Given the description of an element on the screen output the (x, y) to click on. 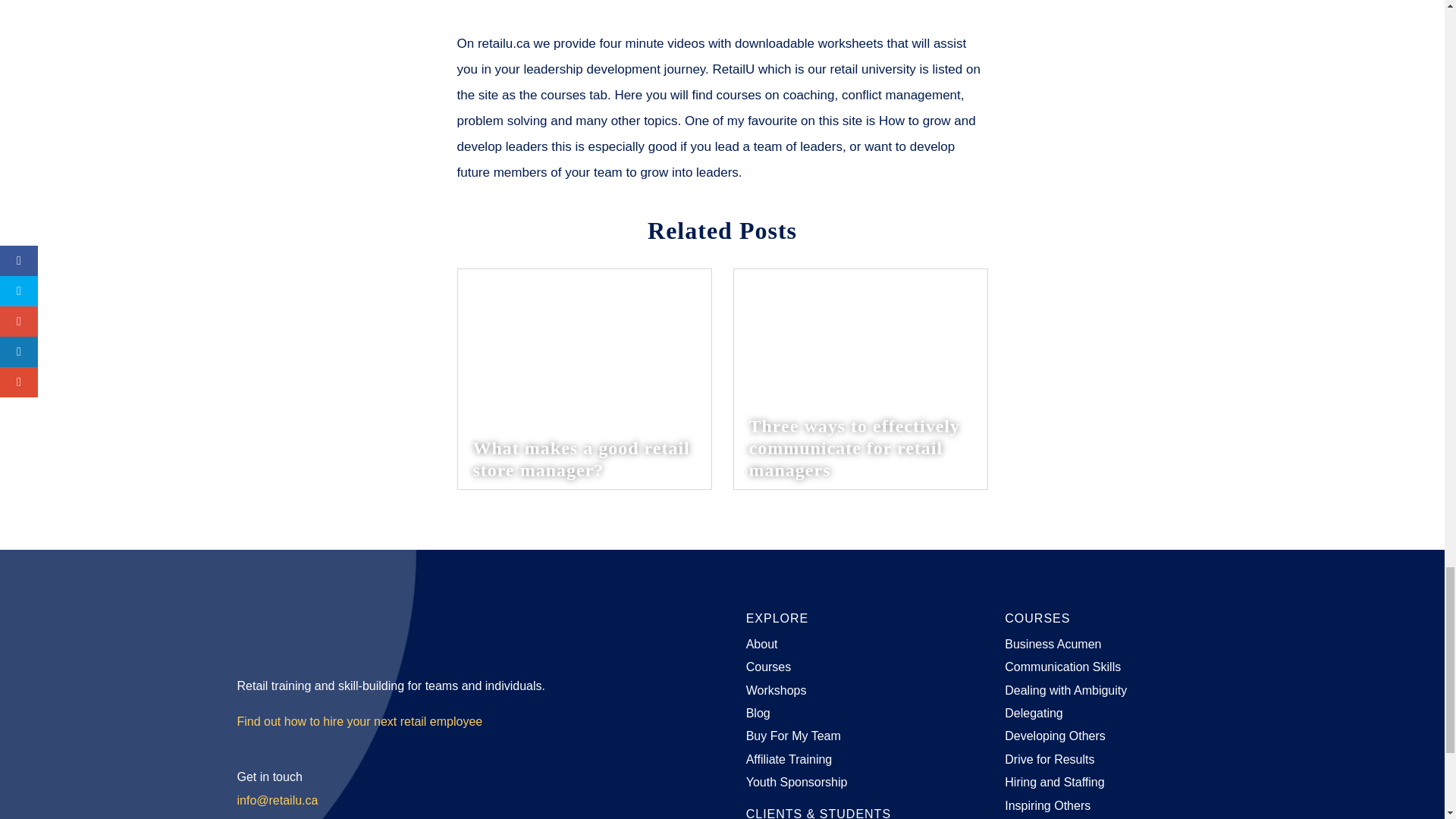
retailu reverse yellow (304, 629)
